Given the description of an element on the screen output the (x, y) to click on. 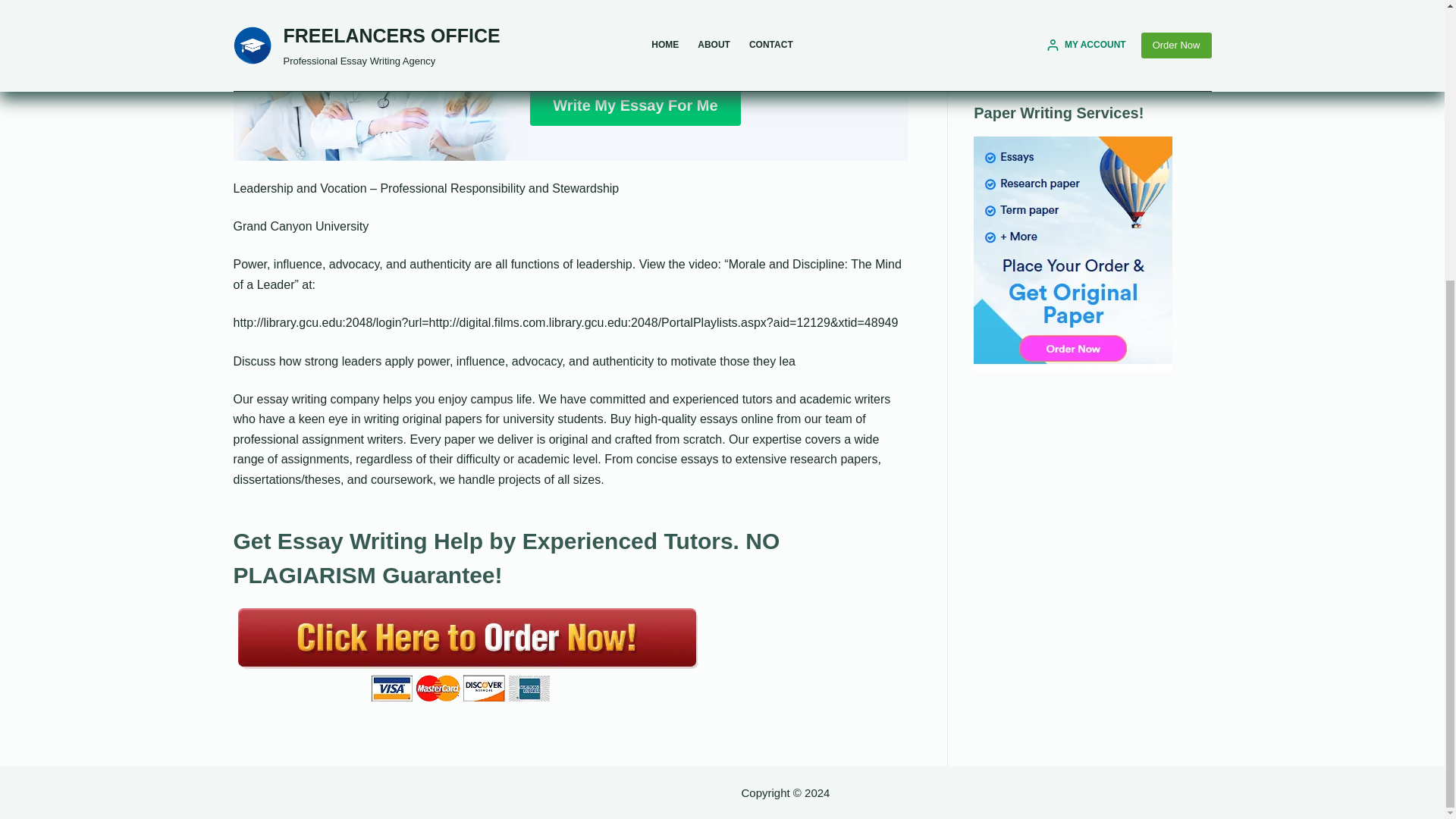
Original Papers (1073, 89)
Write My Essay For Me (634, 105)
